Given the description of an element on the screen output the (x, y) to click on. 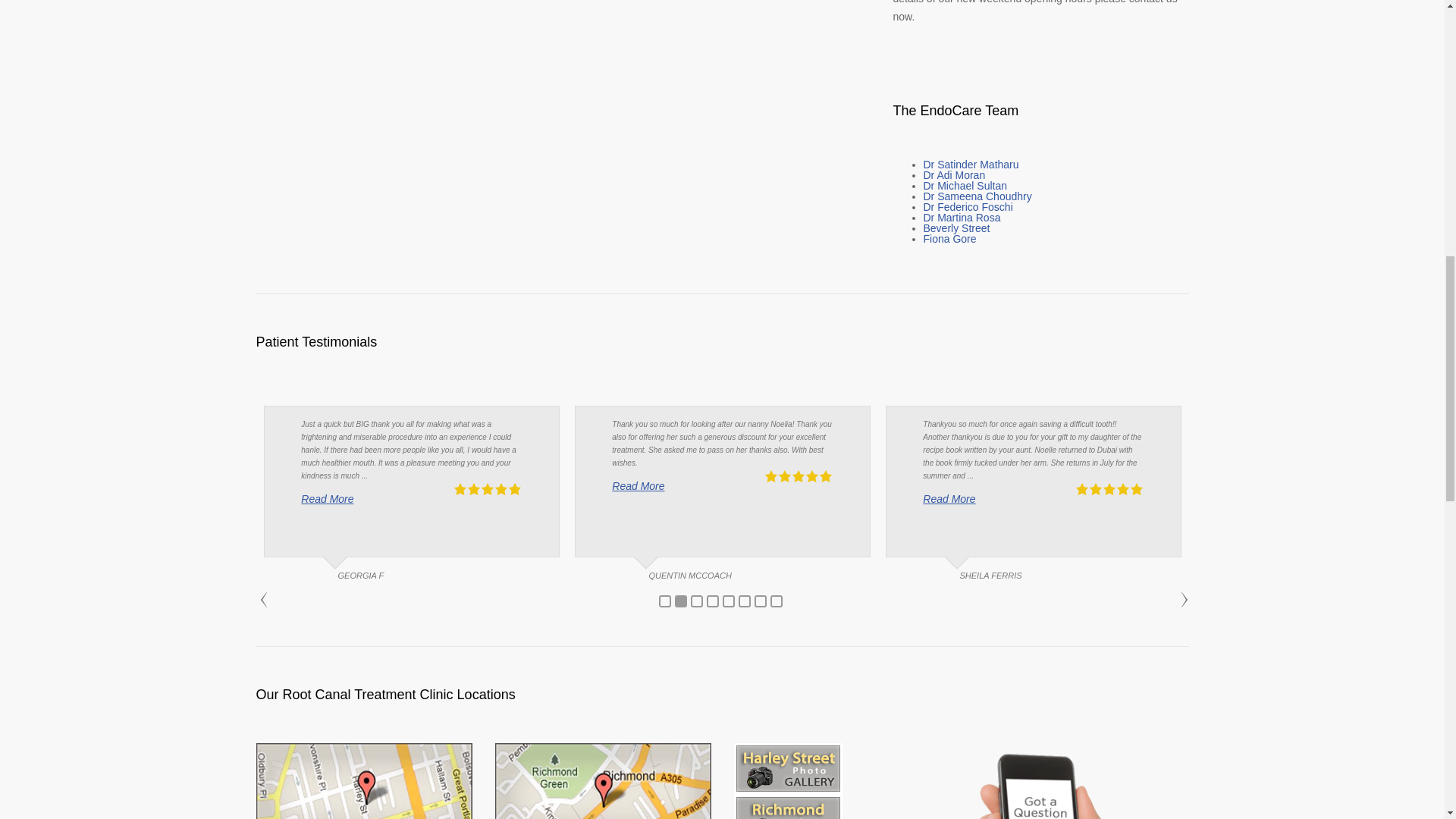
map2 (602, 780)
map1 (363, 780)
handFINAL (1080, 780)
logo-harleystreet-gallery-v6 (788, 768)
logo-richmond-gallery-v6 (788, 806)
